Given the description of an element on the screen output the (x, y) to click on. 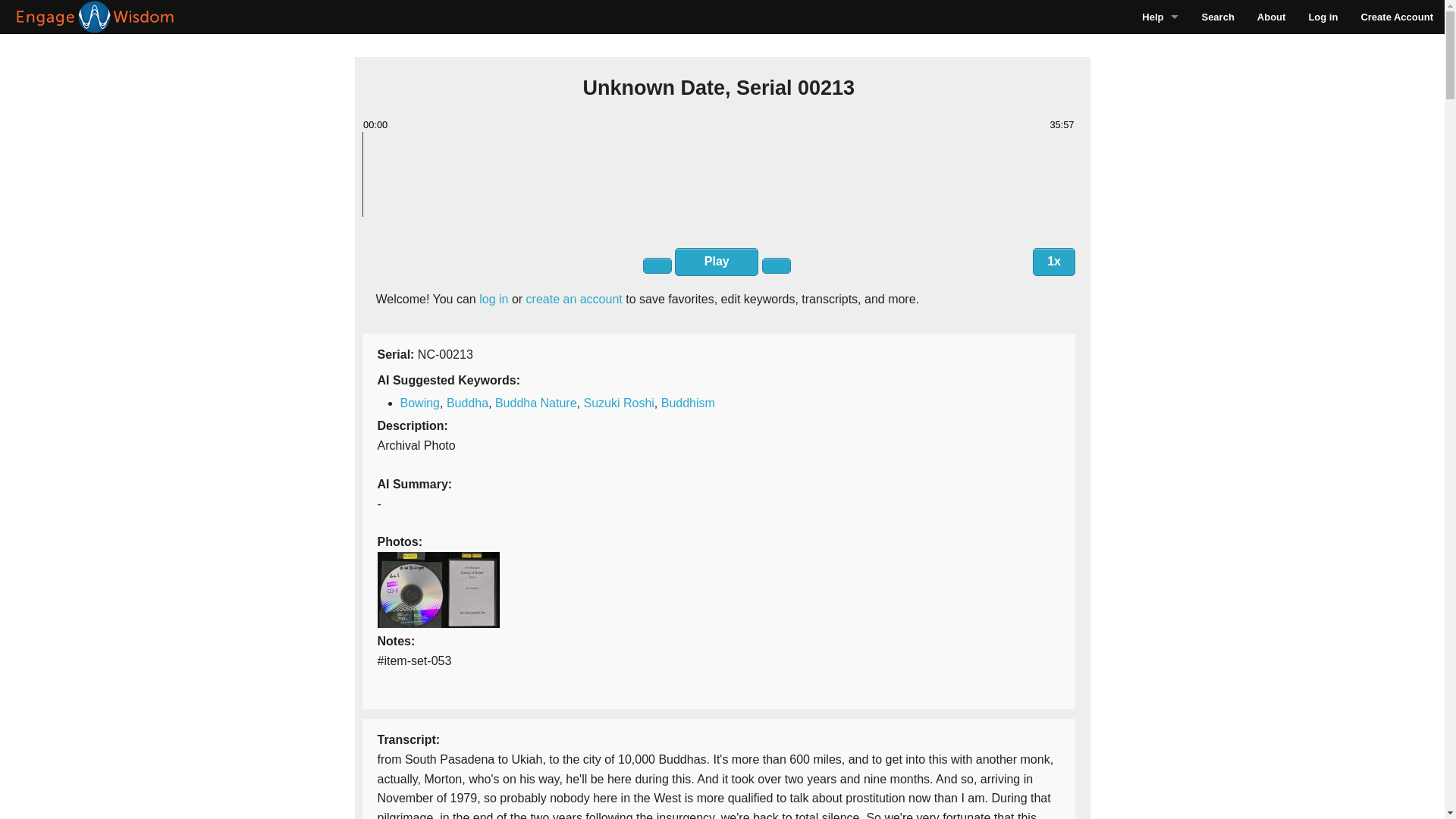
create an account (574, 298)
1x (1053, 262)
Engage Wisdom (1271, 17)
About (1271, 17)
Buddha Nature (535, 402)
Search (1216, 17)
Play (716, 262)
Bowing (419, 402)
Suzuki Roshi (618, 402)
Buddhism (687, 402)
Help (1160, 17)
Log in (1323, 17)
Buddha (466, 402)
log in (493, 298)
